Given the description of an element on the screen output the (x, y) to click on. 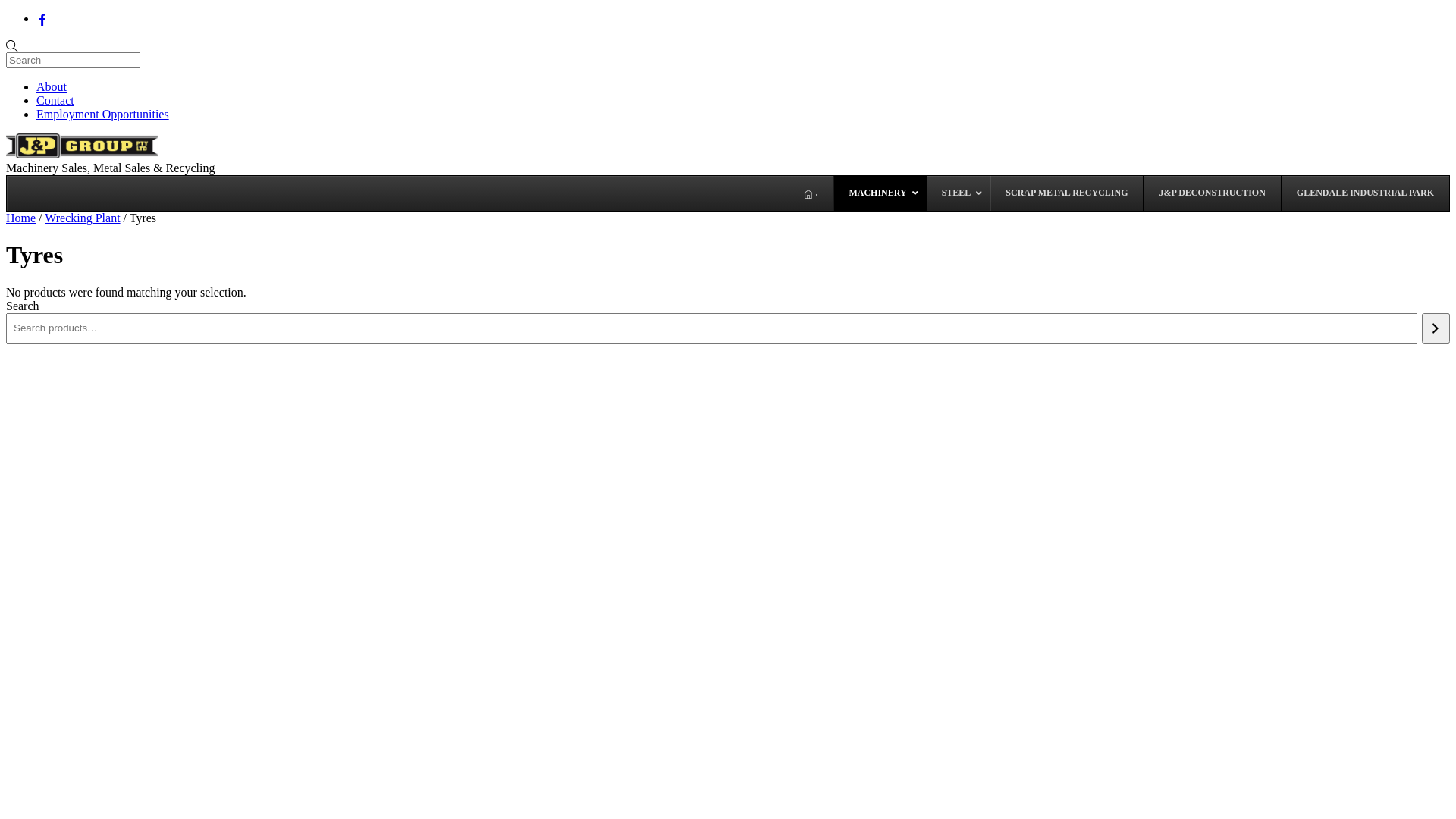
J&P Group Element type: hover (81, 153)
MACHINERY Element type: text (878, 192)
. Element type: text (810, 192)
Home Element type: text (20, 217)
Search Element type: hover (73, 60)
J&P-logo Element type: hover (81, 146)
GLENDALE INDUSTRIAL PARK Element type: text (1364, 192)
Skip to content Element type: text (5, 11)
About Element type: text (51, 86)
SCRAP METAL RECYCLING Element type: text (1065, 192)
STEEL Element type: text (957, 192)
Contact Element type: text (55, 100)
Wrecking Plant Element type: text (81, 217)
Employment Opportunities Element type: text (102, 113)
J&P DECONSTRUCTION Element type: text (1211, 192)
